Given the description of an element on the screen output the (x, y) to click on. 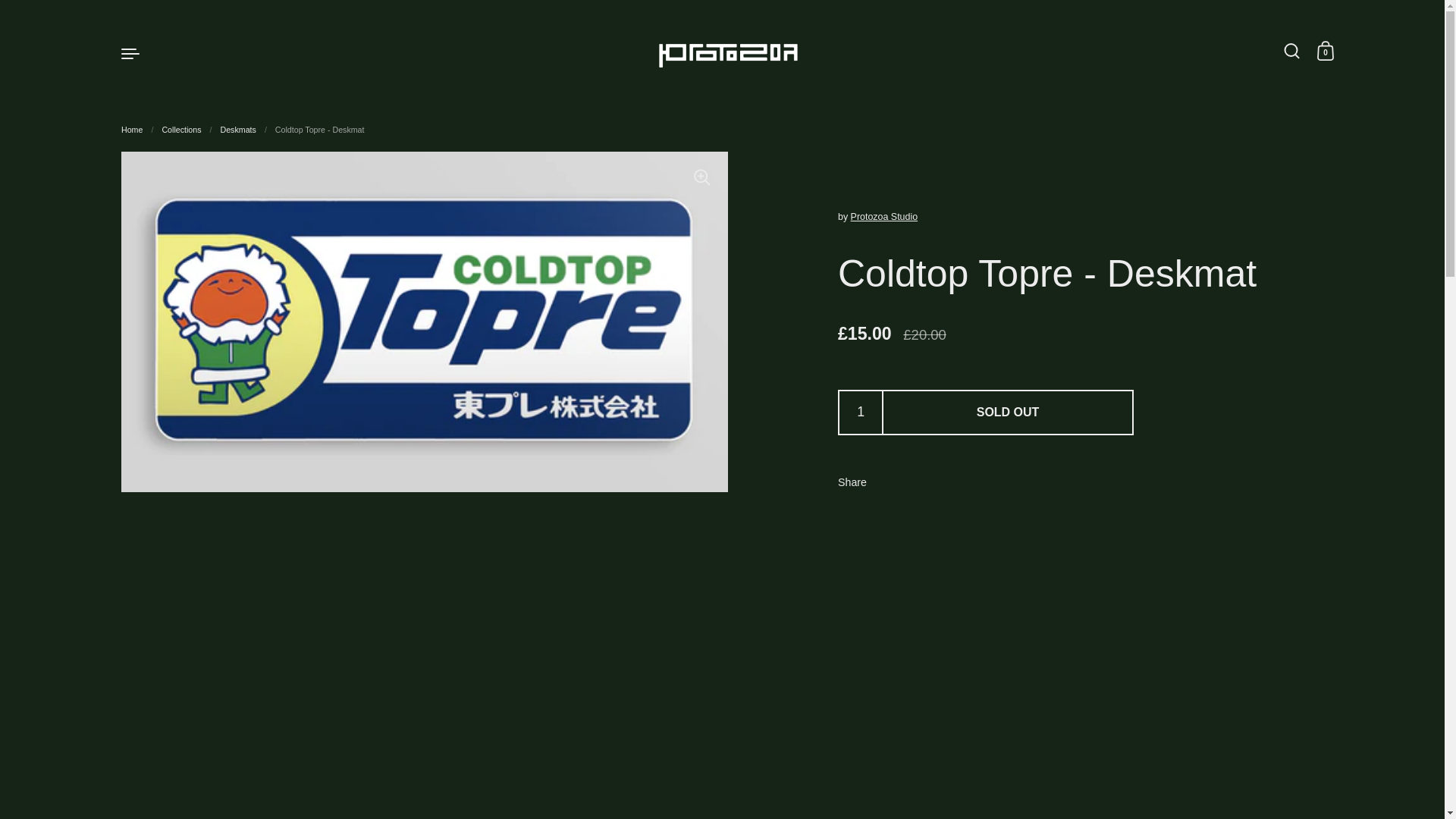
0 (1325, 52)
Protozoa Studio (727, 52)
1 (860, 411)
Protozoa Studio (884, 216)
